Given the description of an element on the screen output the (x, y) to click on. 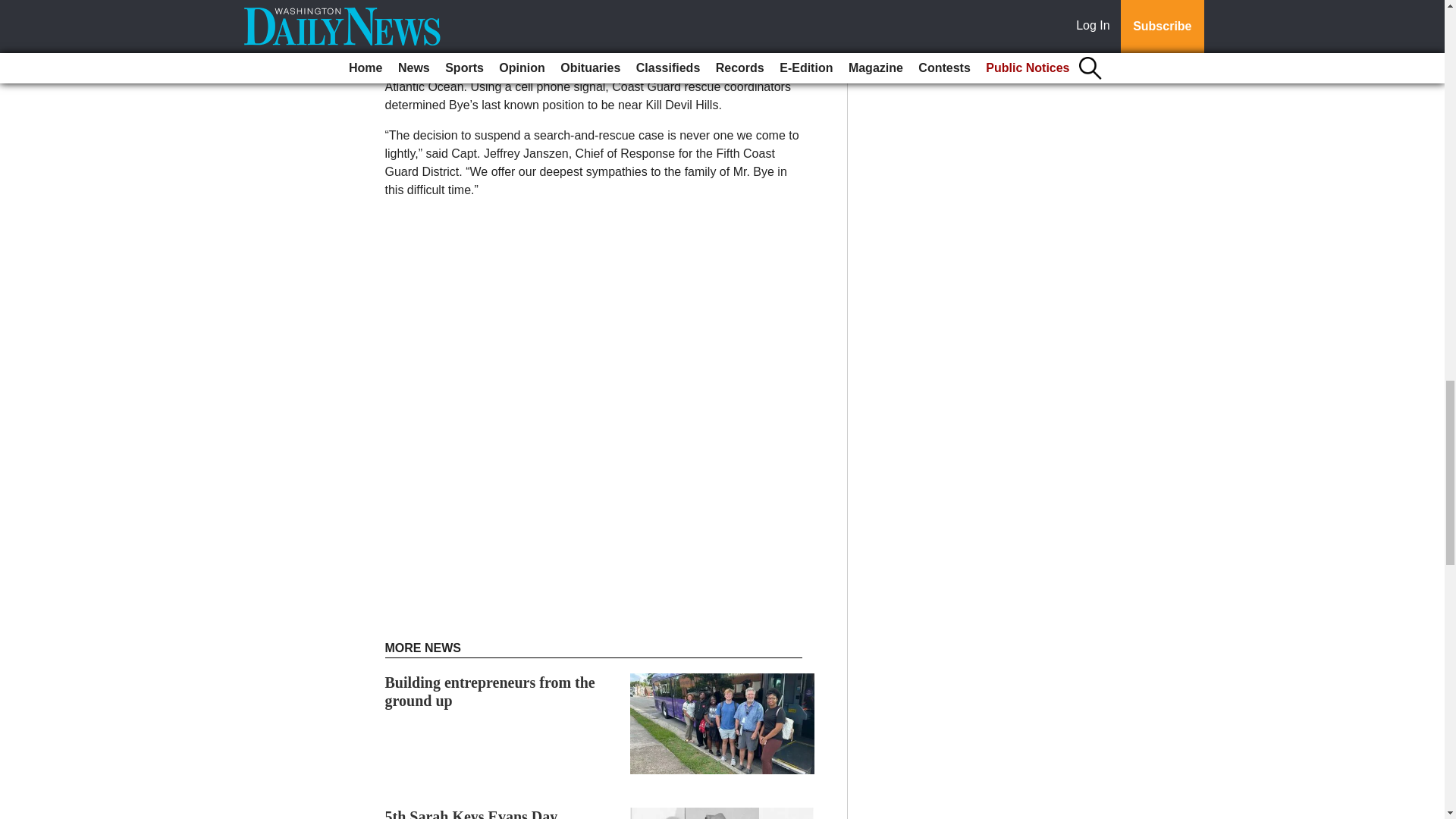
5th Sarah Keys Evans Day scheduled (471, 813)
Building entrepreneurs from the ground up (490, 691)
Building entrepreneurs from the ground up (490, 691)
5th Sarah Keys Evans Day scheduled (471, 813)
